Given the description of an element on the screen output the (x, y) to click on. 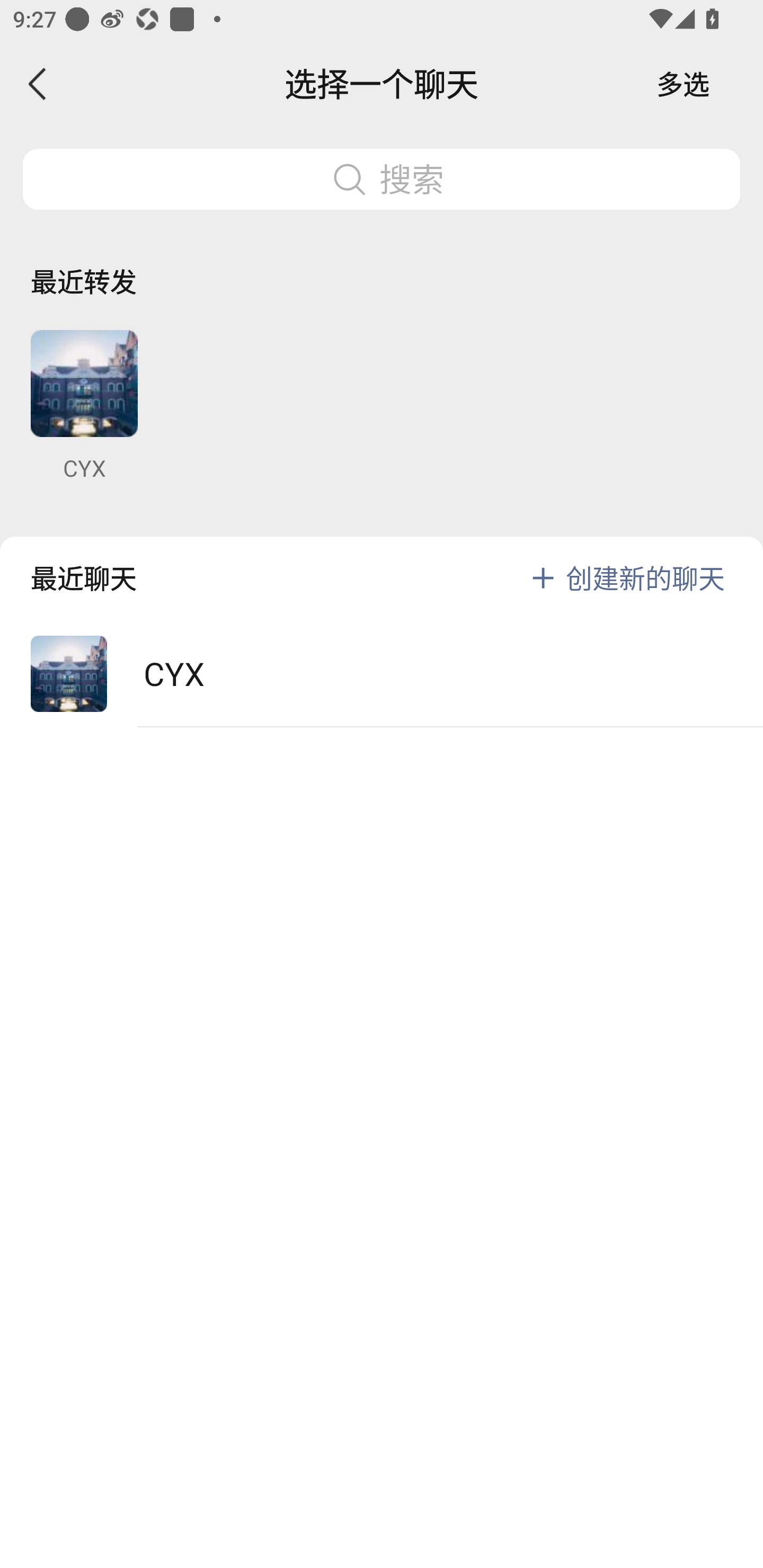
返回 (38, 83)
多选 (683, 83)
CYX (84, 405)
创建新的聊天 (645, 577)
CYX (381, 673)
